Given the description of an element on the screen output the (x, y) to click on. 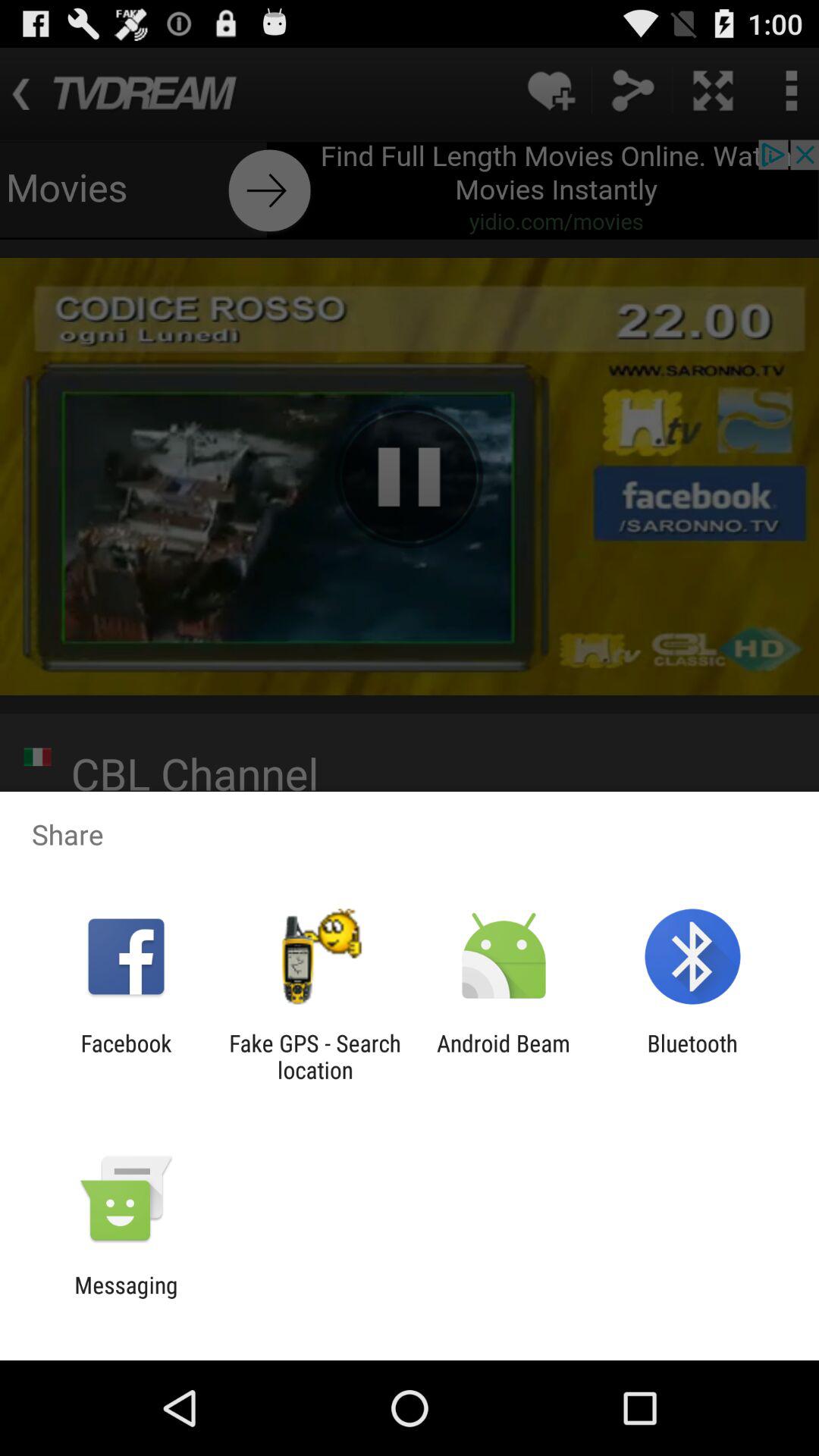
launch icon to the right of android beam app (692, 1056)
